Given the description of an element on the screen output the (x, y) to click on. 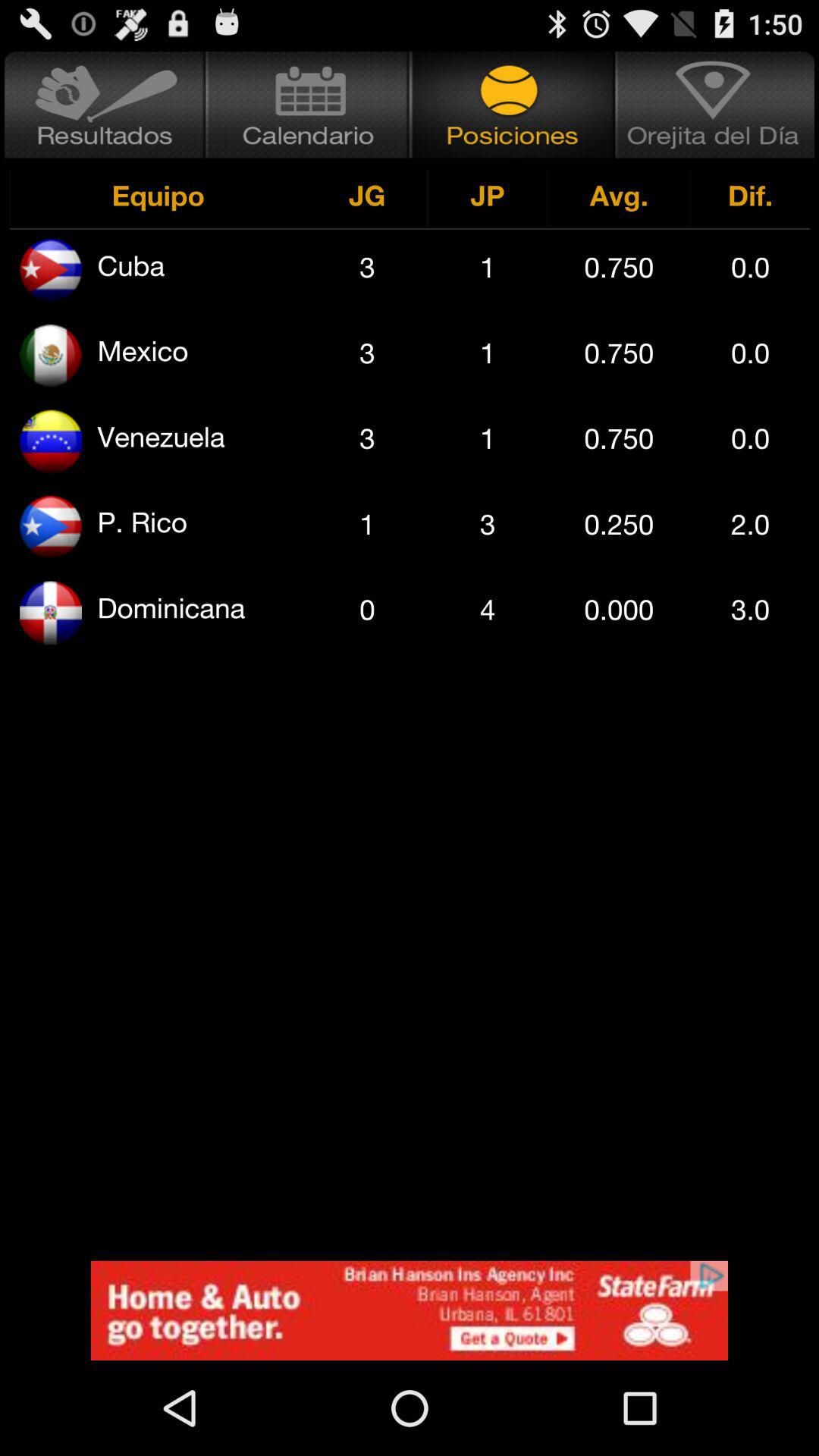
go to resultados tab (102, 104)
